Given the description of an element on the screen output the (x, y) to click on. 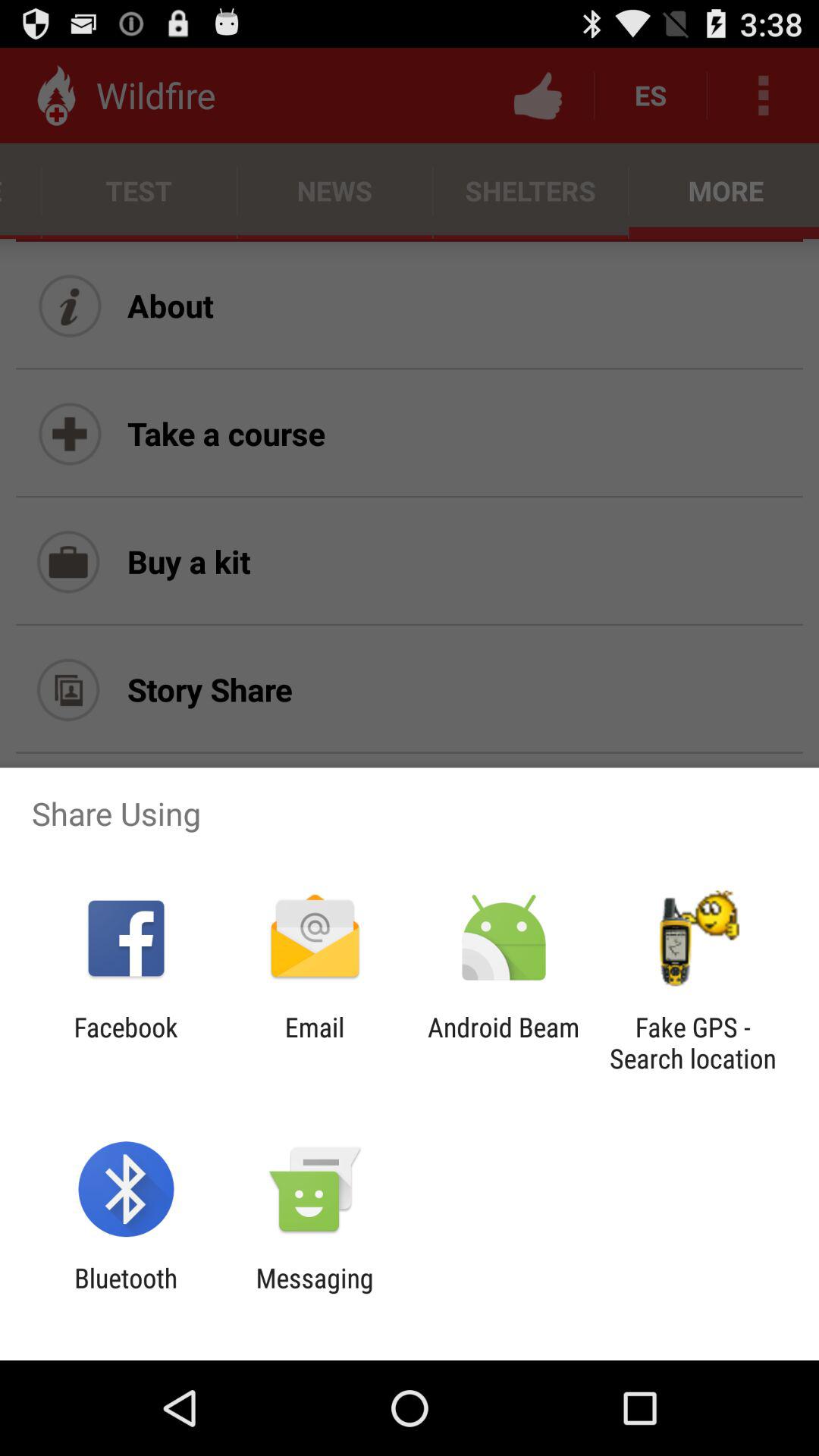
choose icon to the left of the messaging item (125, 1293)
